Given the description of an element on the screen output the (x, y) to click on. 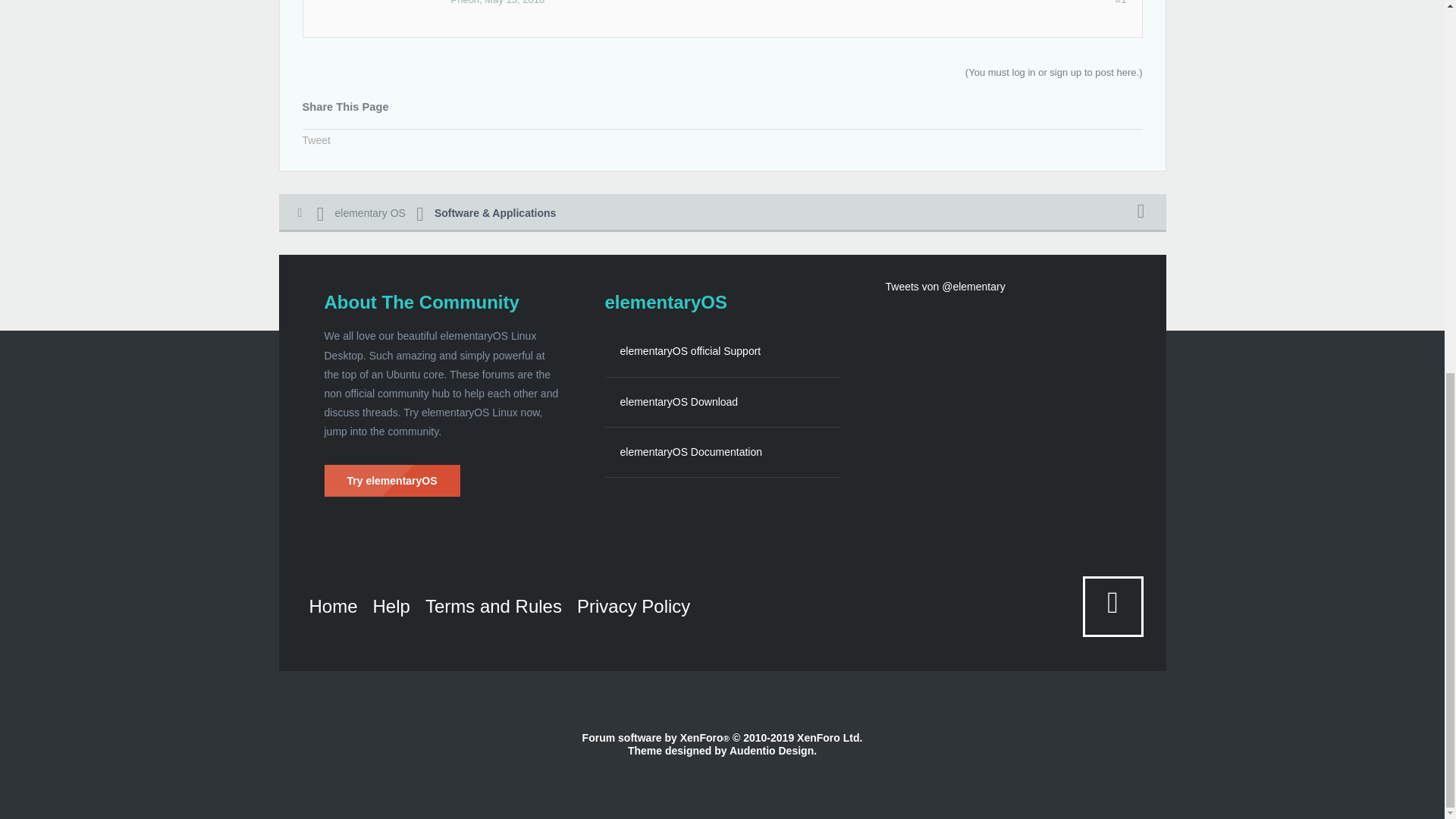
Permalink (1120, 3)
Premium XenForo Themes (771, 750)
Permalink (514, 2)
Open quick navigation (1141, 212)
